Given the description of an element on the screen output the (x, y) to click on. 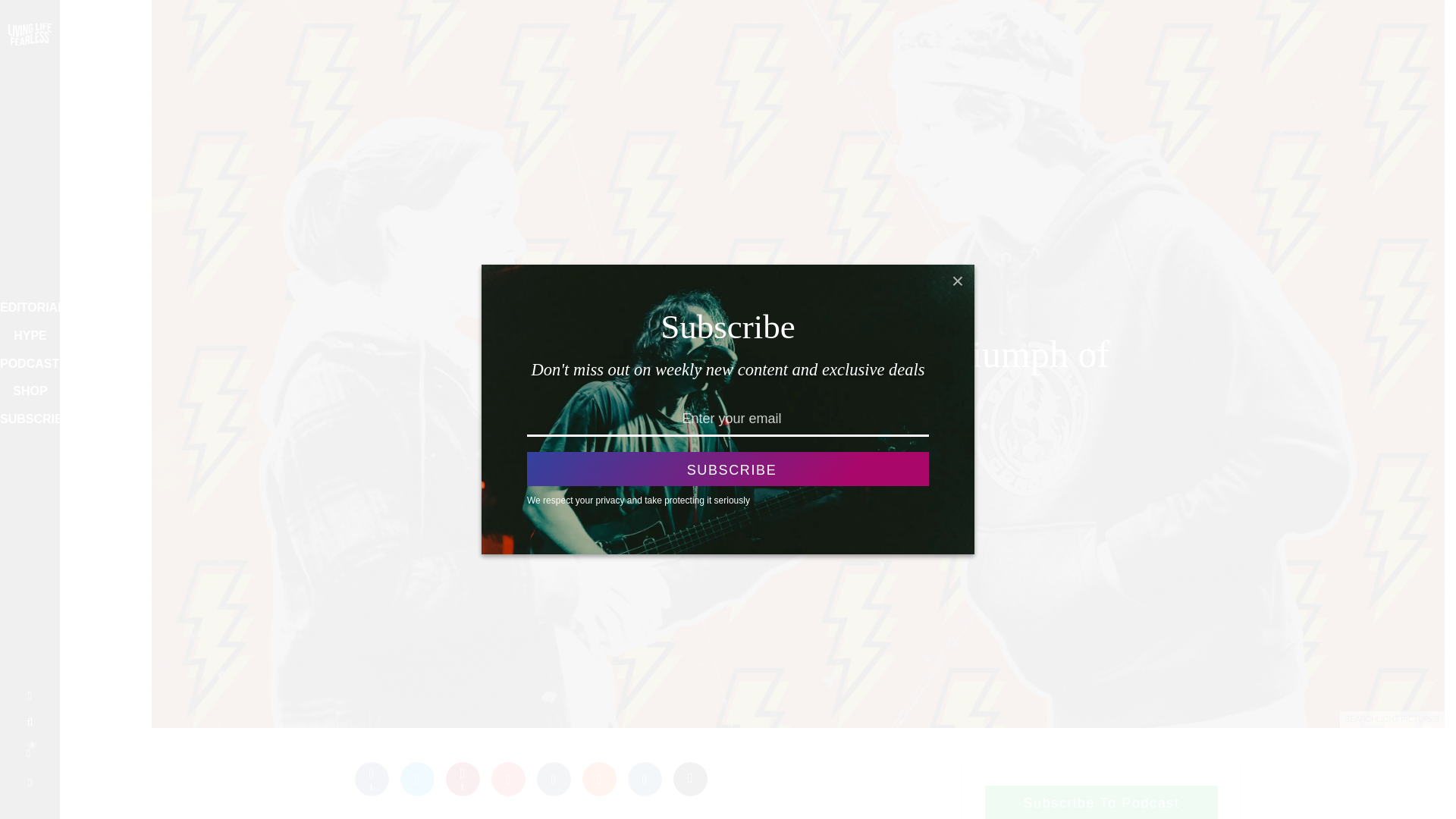
Stephen Silver (738, 313)
PODCASTS (24, 363)
1 (371, 779)
Features (807, 313)
Subscribe (727, 469)
1 (462, 779)
SHOP (24, 391)
Subscribe (727, 469)
SUBSCRIBE! (25, 419)
